Given the description of an element on the screen output the (x, y) to click on. 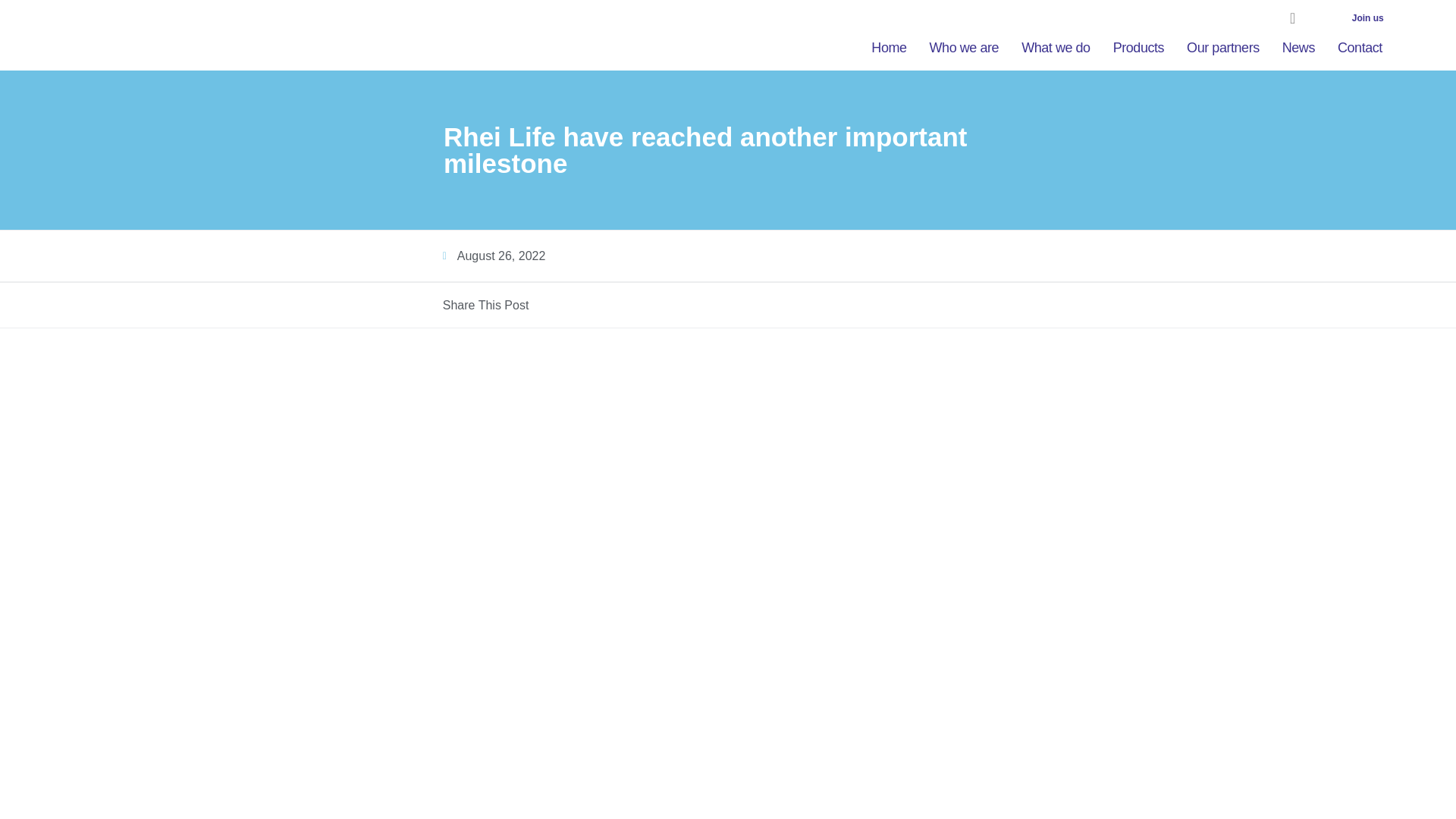
Who we are (964, 47)
Contact (1359, 47)
News (1298, 47)
Products (1138, 47)
What we do (1055, 47)
Home (888, 47)
Join us (1368, 18)
Our partners (1222, 47)
